Given the description of an element on the screen output the (x, y) to click on. 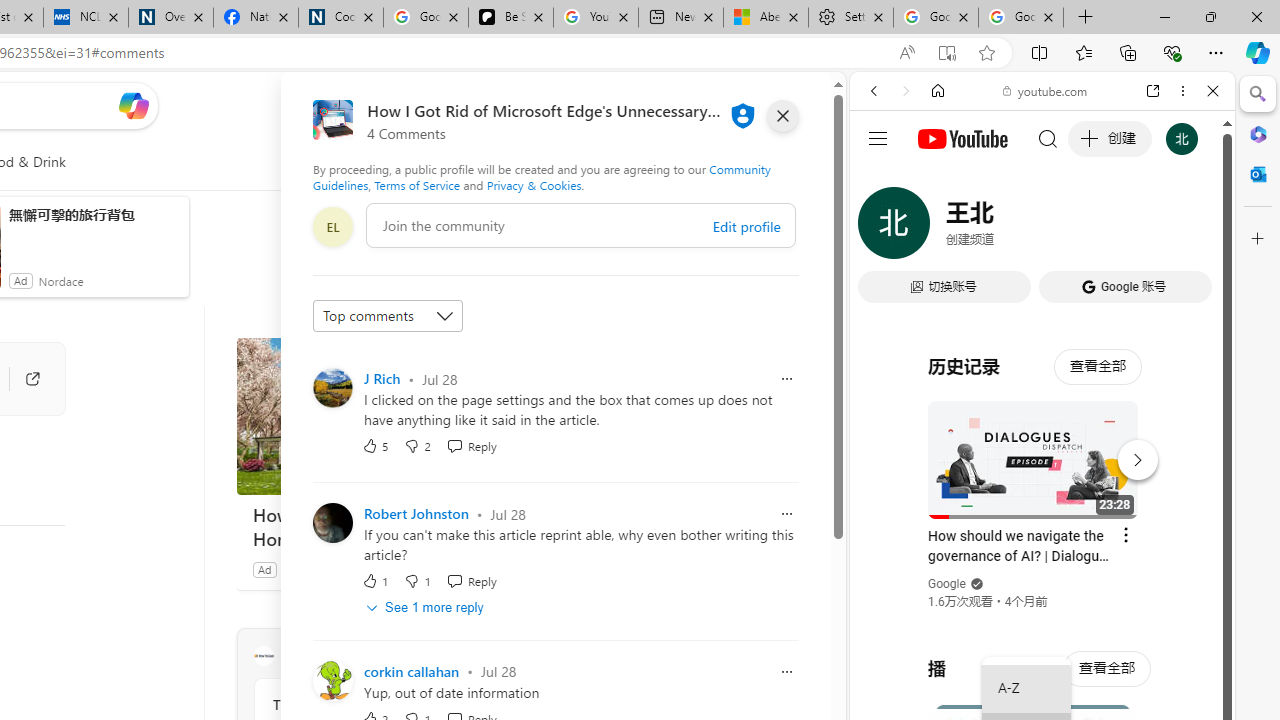
Trailer #2 [HD] (1042, 594)
Edit profile (745, 226)
Global web icon (888, 288)
Search Filter, WEB (882, 228)
Search Filter, VIDEOS (1006, 228)
